Given the description of an element on the screen output the (x, y) to click on. 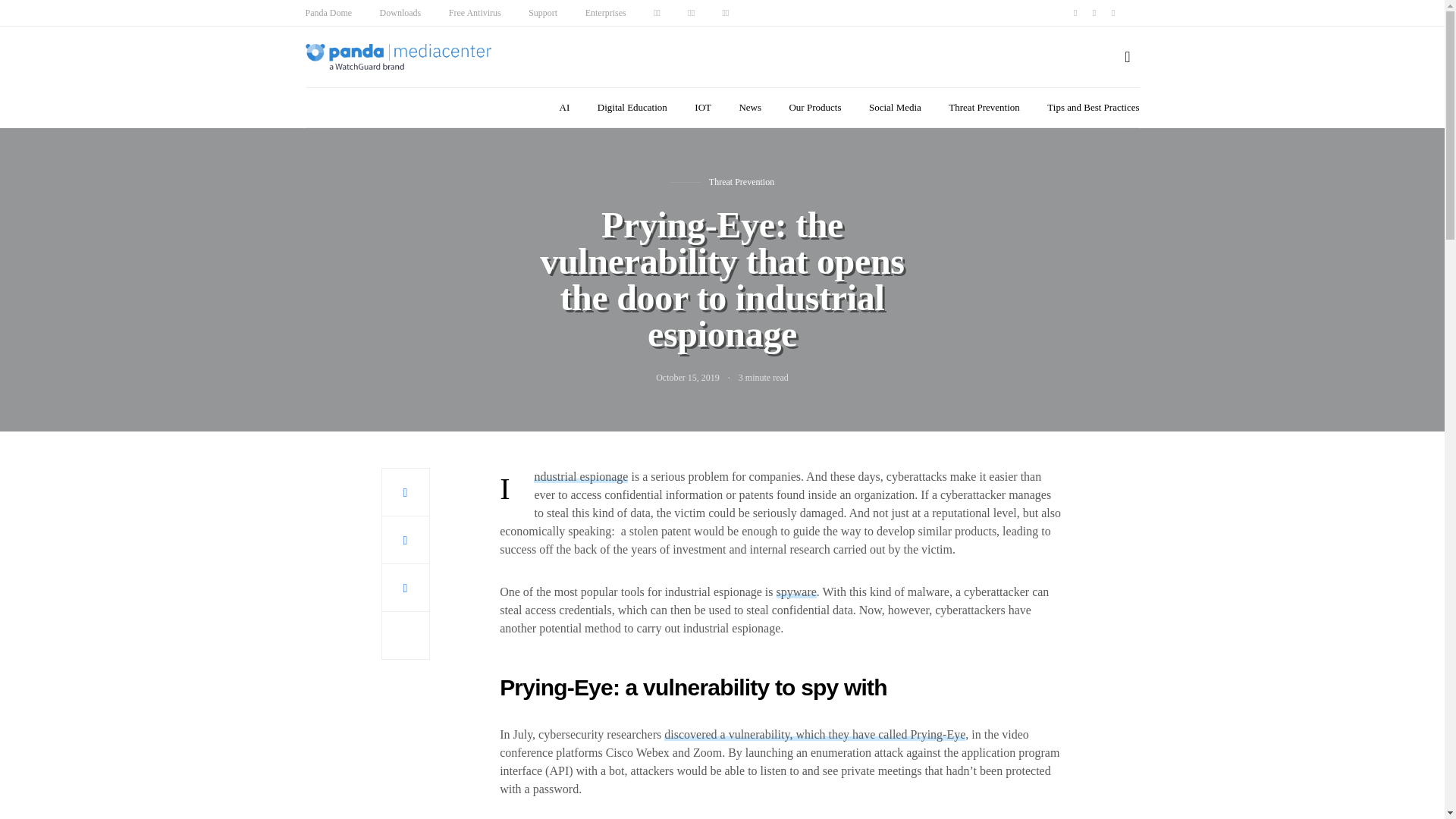
Free Antivirus (474, 12)
Tips and Best Practices (1092, 107)
spyware (796, 591)
Enterprises (605, 12)
Social Media (895, 107)
IOT (702, 107)
AI (564, 107)
Our Products (815, 107)
Industrial espionage (580, 476)
Digital Education (631, 107)
Threat Prevention (984, 107)
Downloads (401, 12)
Support (542, 12)
Panda Dome (328, 12)
